Given the description of an element on the screen output the (x, y) to click on. 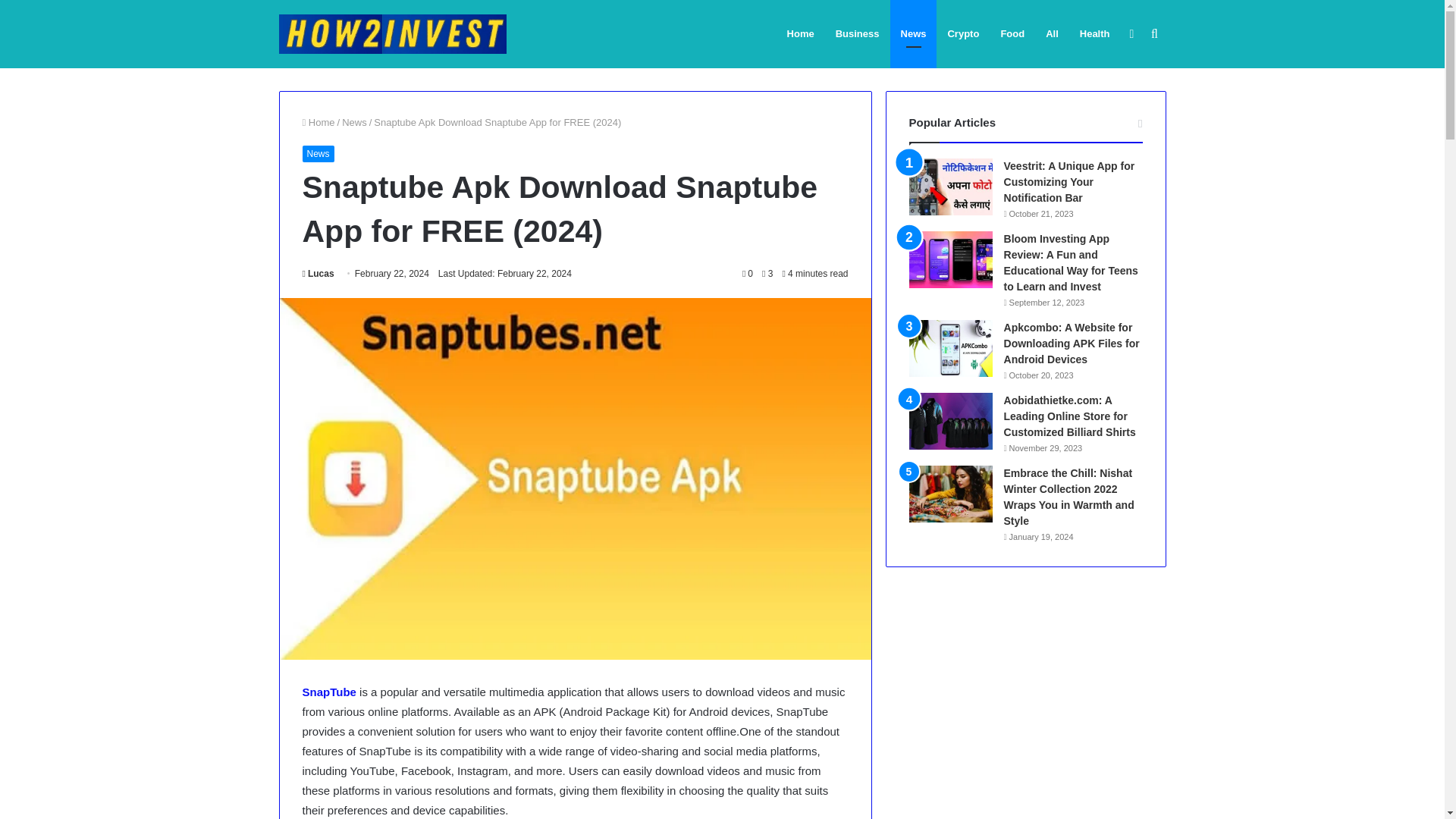
Lucas (317, 273)
Lucas (317, 273)
How2invest (392, 34)
Home (317, 122)
SnapTube (328, 691)
Business (857, 33)
News (317, 153)
News (354, 122)
